Given the description of an element on the screen output the (x, y) to click on. 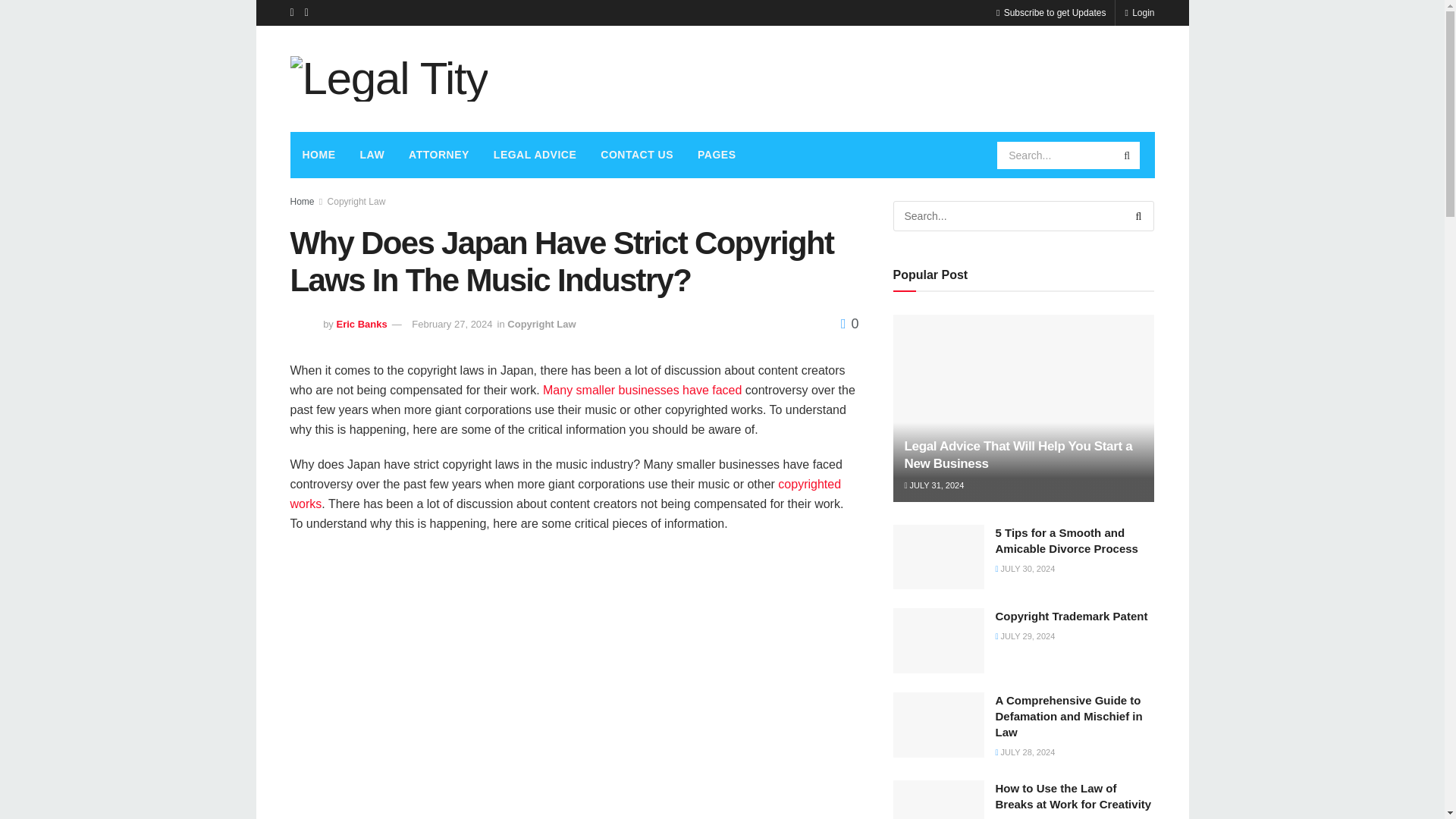
ATTORNEY (438, 154)
Login (1139, 12)
HOME (318, 154)
LEGAL ADVICE (534, 154)
Subscribe to get Updates (1050, 12)
LAW (371, 154)
PAGES (716, 154)
CONTACT US (636, 154)
